Given the description of an element on the screen output the (x, y) to click on. 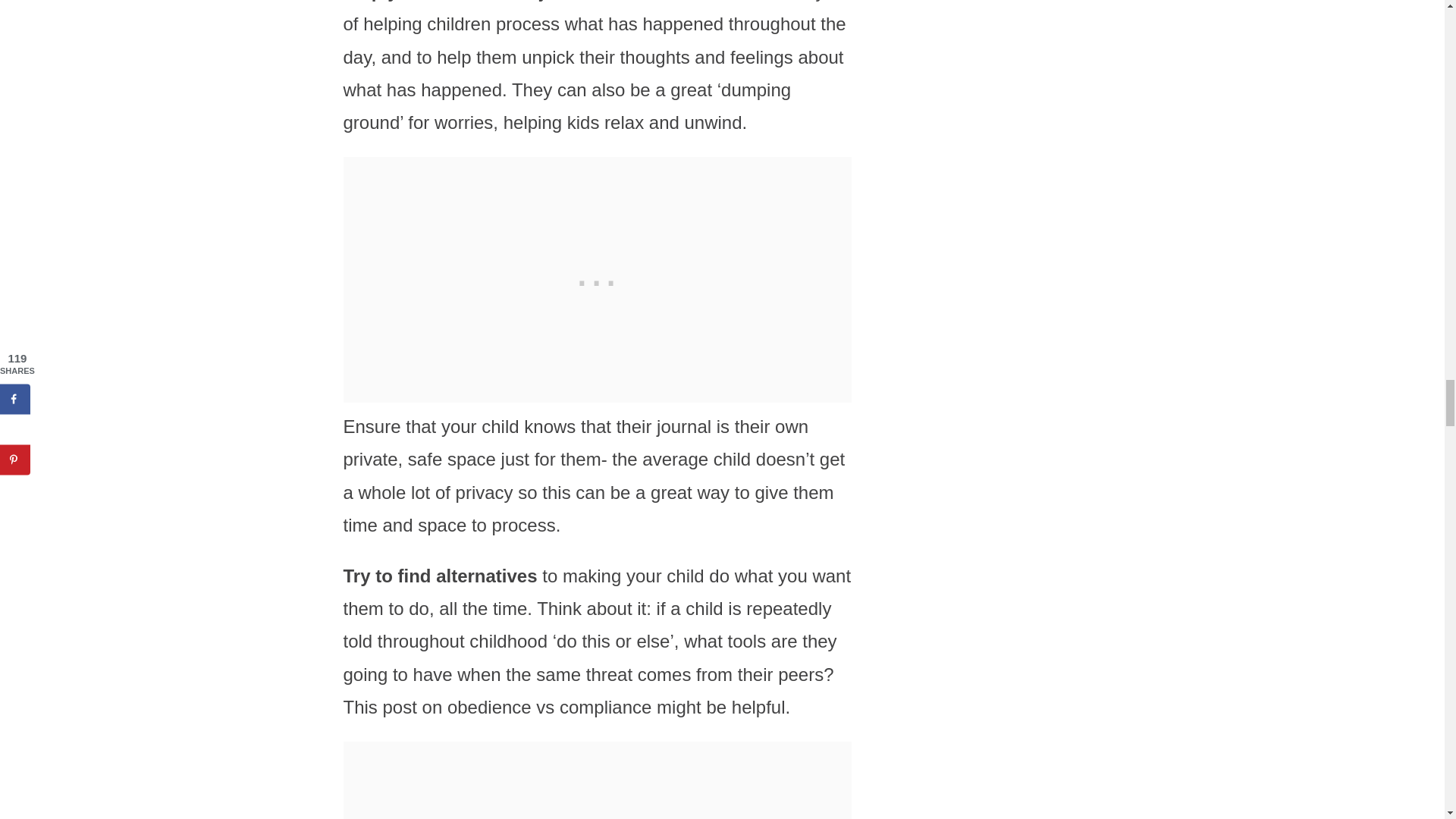
obedience vs compliance (549, 706)
